Given the description of an element on the screen output the (x, y) to click on. 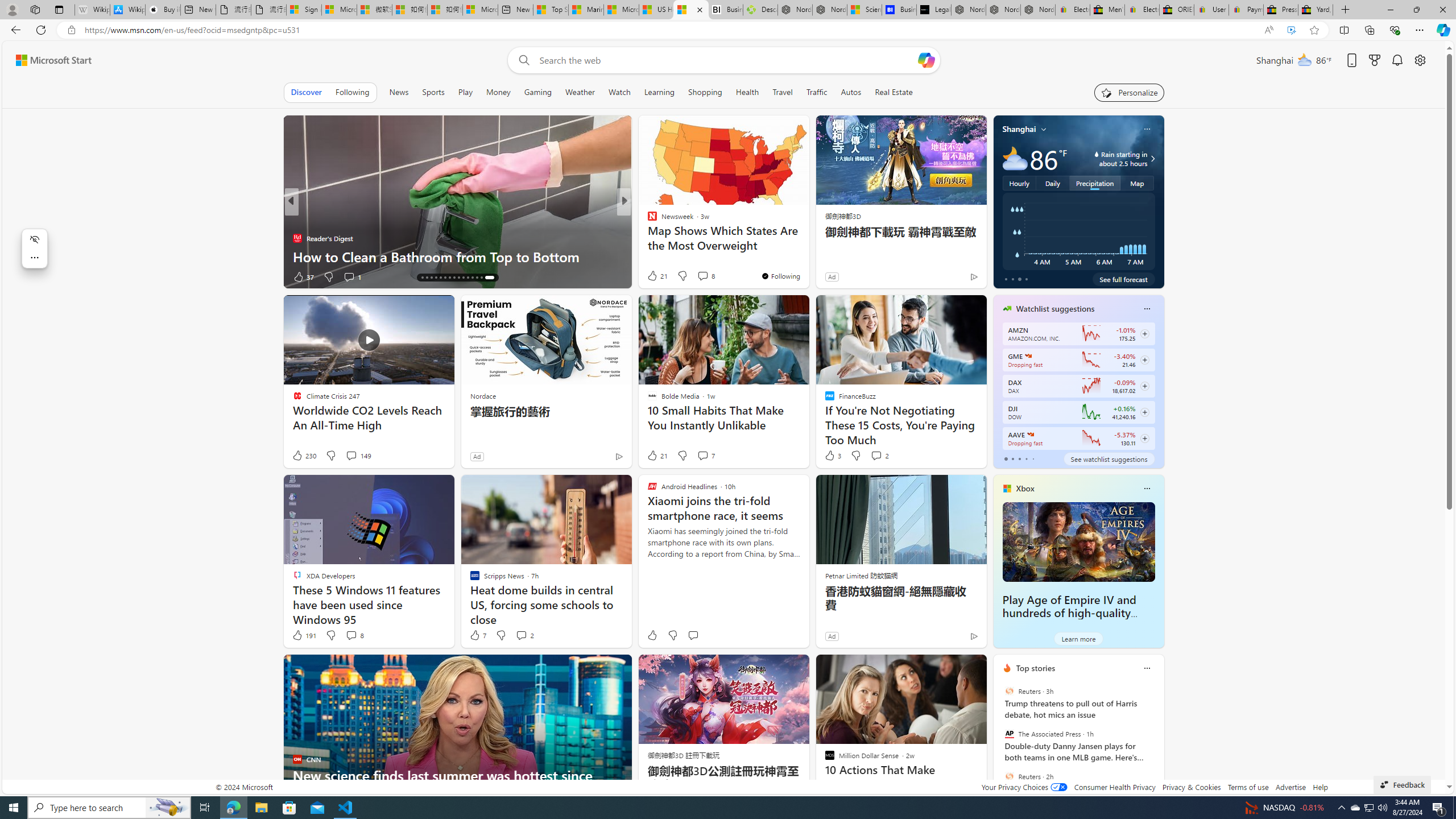
AutomationID: tab-24 (465, 277)
Windows Central (647, 219)
View comments 1 Comment (702, 276)
89 Like (652, 276)
AutomationID: tab-30 (492, 277)
Marine life - MSN (585, 9)
View comments 102 Comment (703, 276)
Reuters (1008, 775)
View comments 2 Comment (524, 634)
Payments Terms of Use | eBay.com (1246, 9)
